Given the description of an element on the screen output the (x, y) to click on. 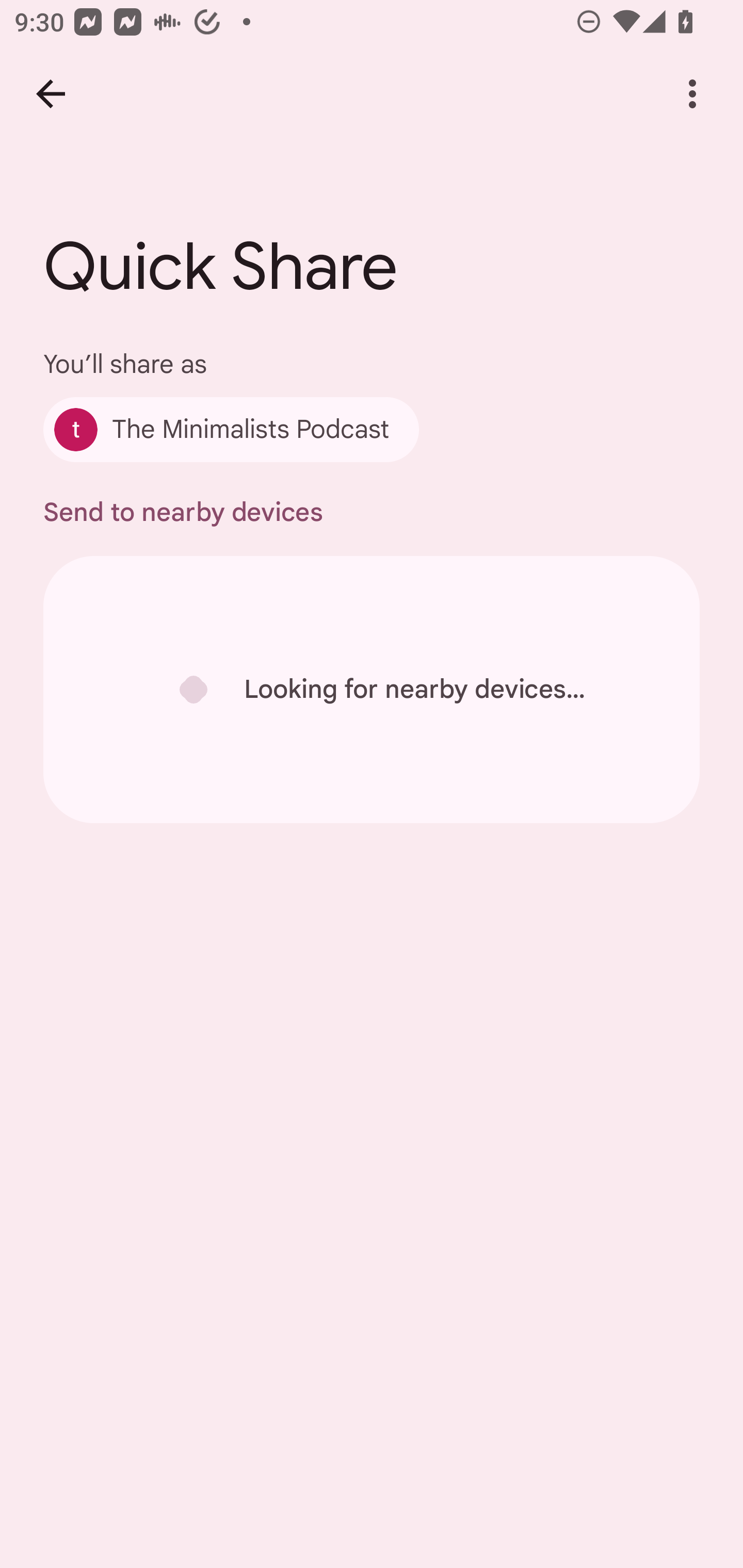
Back (50, 93)
More (692, 93)
The Minimalists Podcast (231, 429)
